Given the description of an element on the screen output the (x, y) to click on. 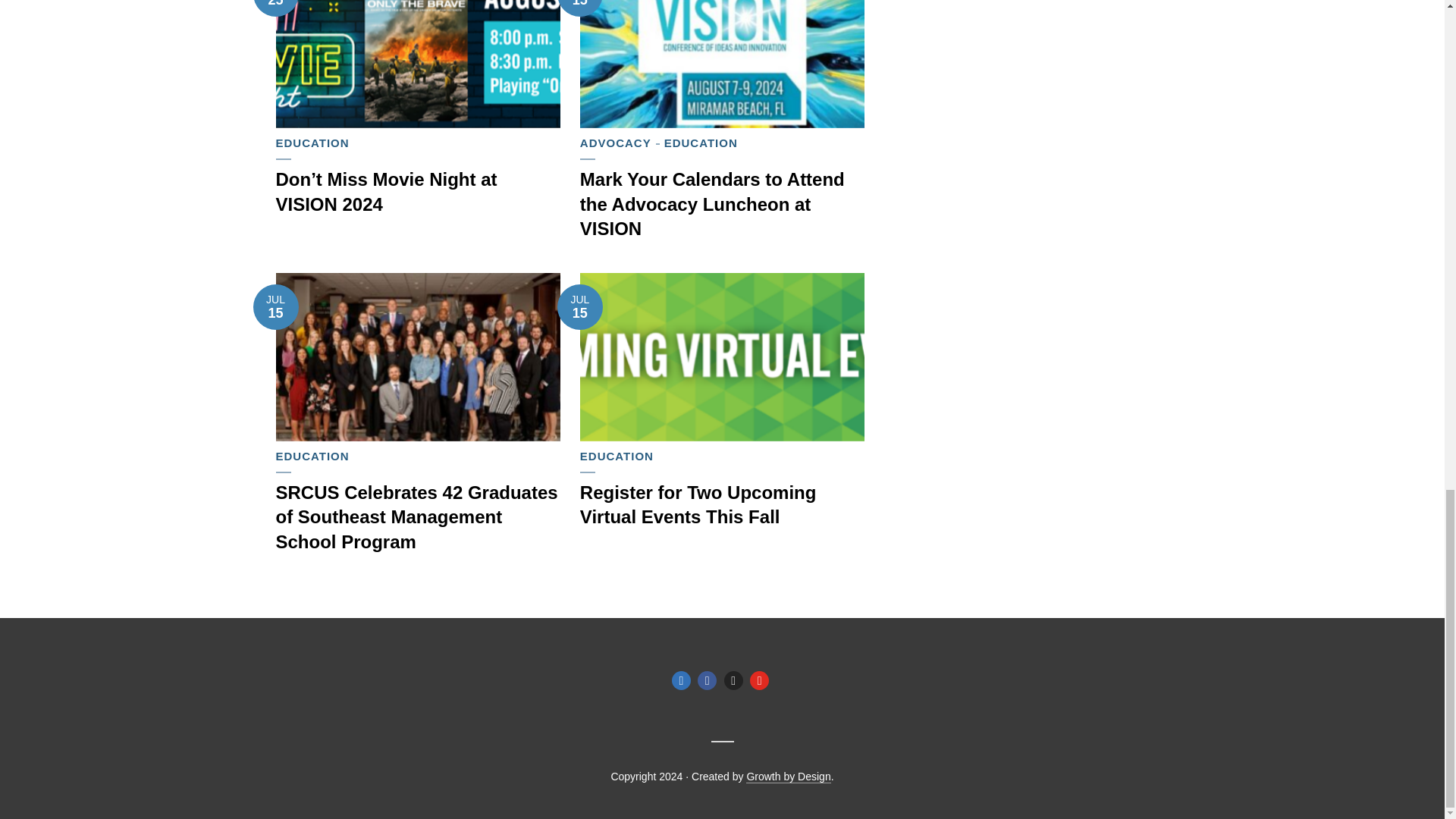
Facebook (706, 680)
YouTube (758, 680)
Linkedin (680, 680)
